Given the description of an element on the screen output the (x, y) to click on. 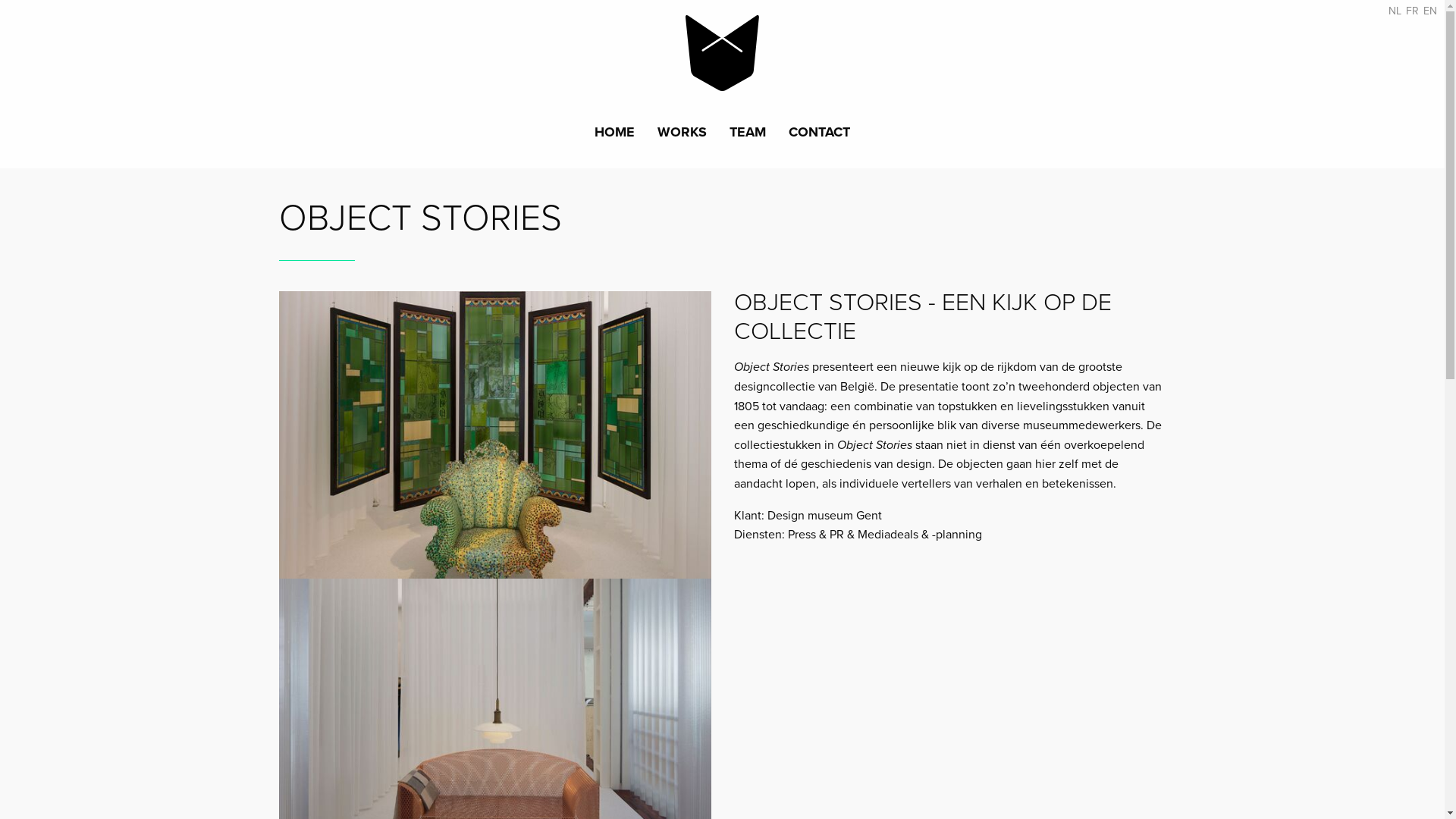
EN Element type: text (1430, 11)
NL Element type: text (1394, 11)
WORKS Element type: text (681, 134)
TEAM Element type: text (747, 134)
HOME Element type: text (614, 134)
FR Element type: text (1411, 11)
CONTACT Element type: text (819, 134)
